Given the description of an element on the screen output the (x, y) to click on. 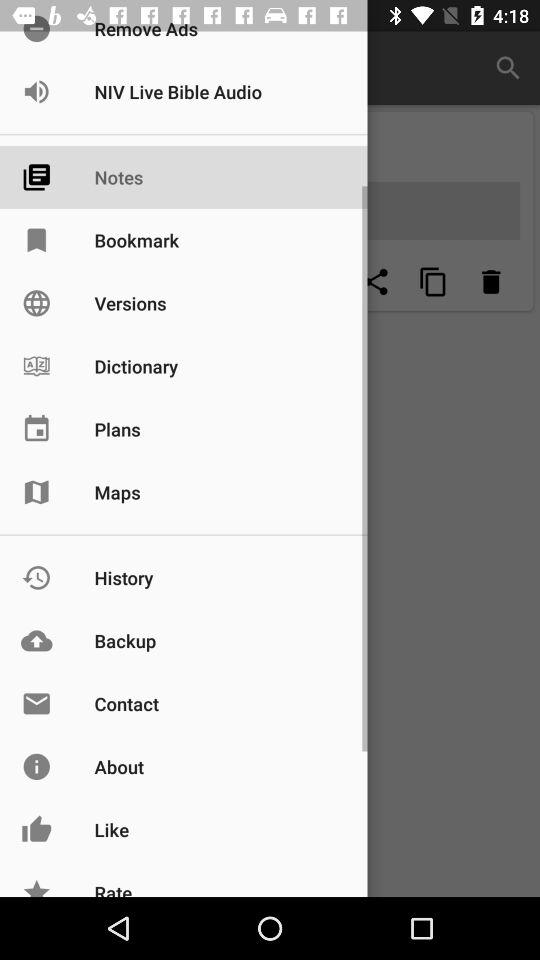
erase (491, 281)
